Given the description of an element on the screen output the (x, y) to click on. 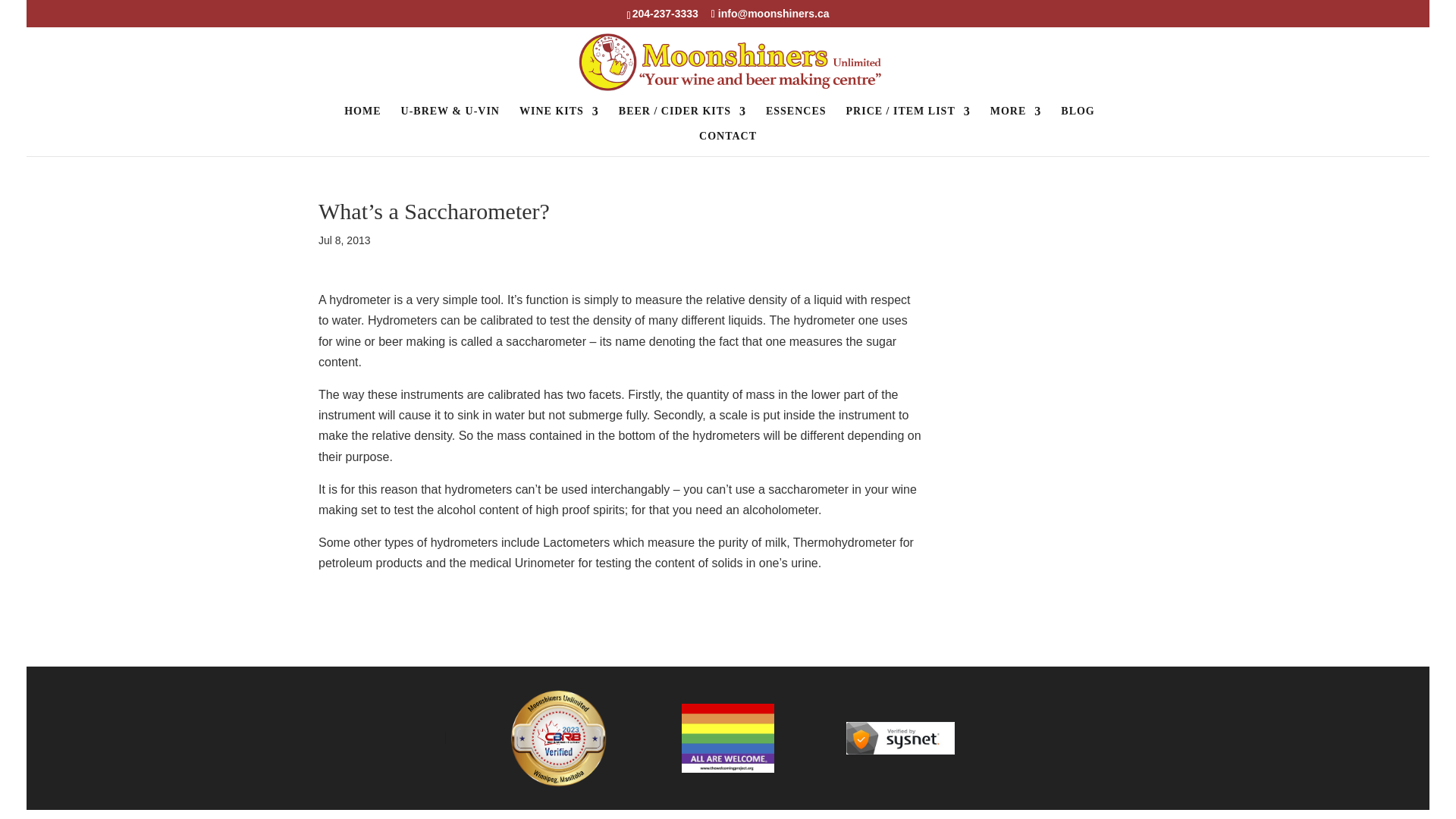
2023 CBRB Inc. Moonshiners Unlimited Badge (555, 737)
MORE (1016, 118)
CONTACT (727, 143)
1333239 (900, 737)
ESSENCES (796, 118)
BLOG (1077, 118)
WINE KITS (558, 118)
HOME (361, 118)
1333240 (727, 738)
